Given the description of an element on the screen output the (x, y) to click on. 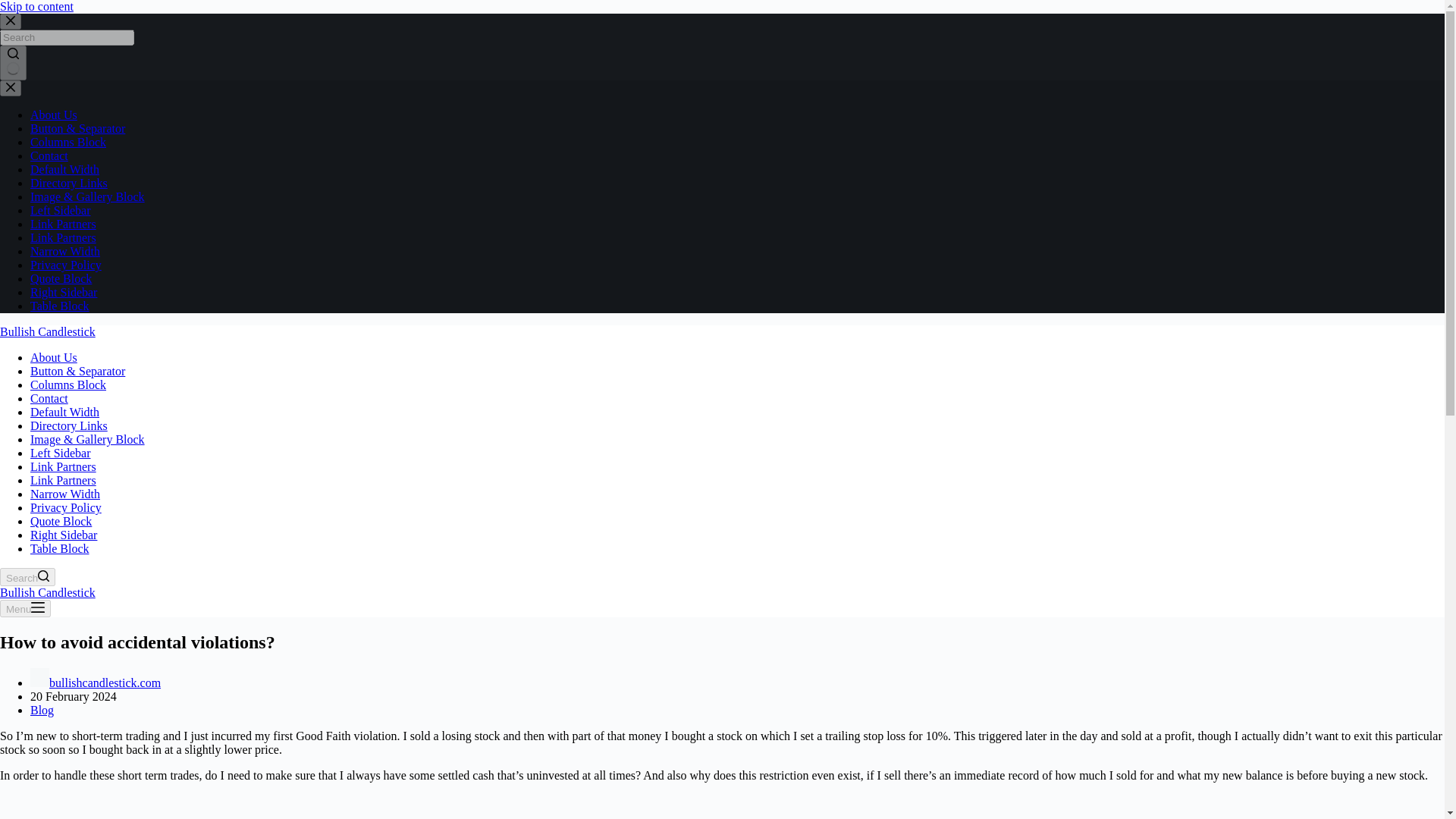
Bullish Candlestick (48, 331)
Skip to content (37, 6)
Search (27, 577)
Contact (49, 398)
Default Width (64, 411)
Table Block (59, 548)
Default Width (64, 169)
Bullish Candlestick (48, 592)
Search for... (66, 37)
Link Partners (63, 223)
